Given the description of an element on the screen output the (x, y) to click on. 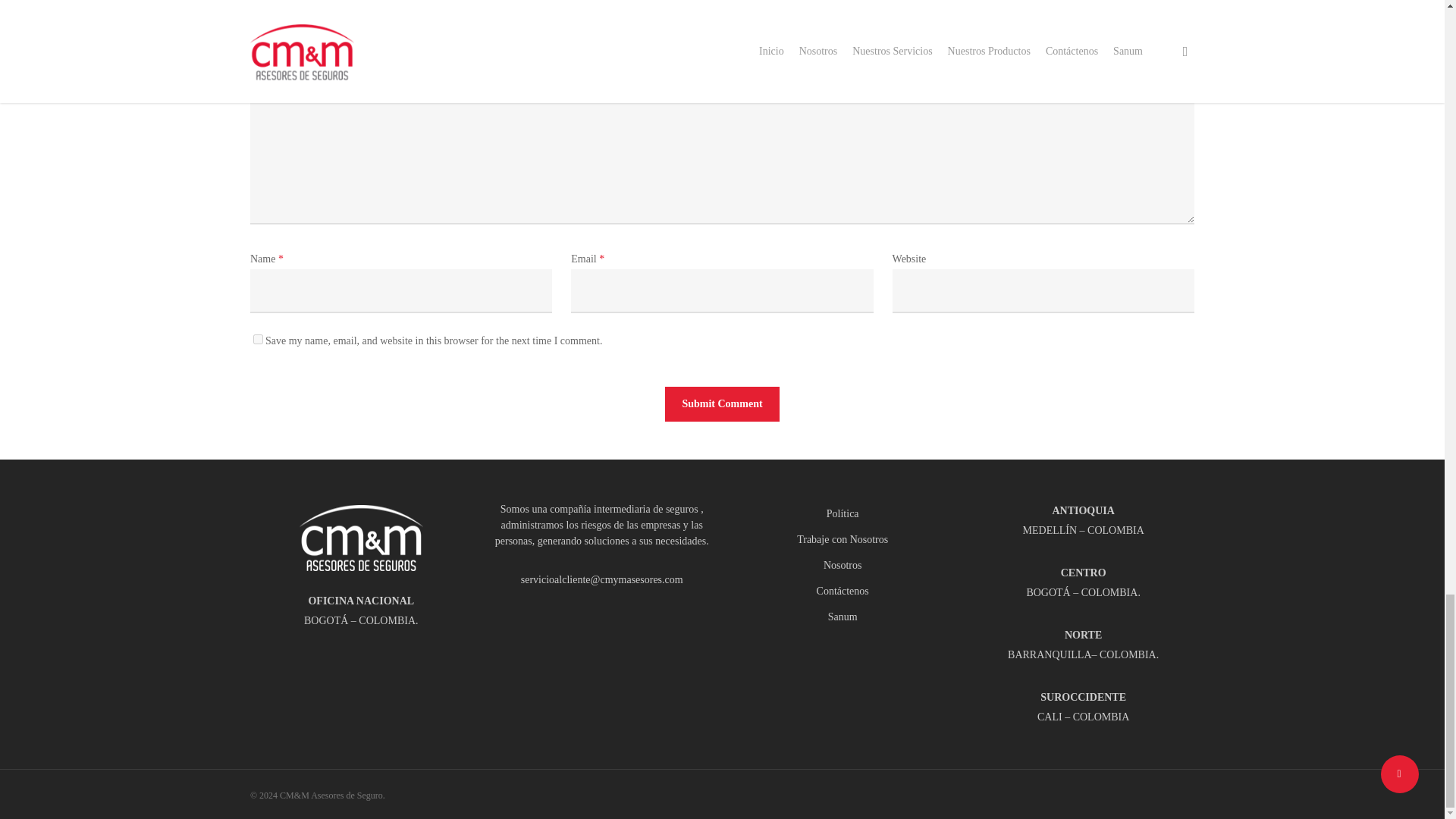
Nosotros (842, 565)
Trabaje con Nosotros (842, 539)
yes (258, 338)
Submit Comment (721, 403)
Submit Comment (721, 403)
Sanum (842, 617)
